Given the description of an element on the screen output the (x, y) to click on. 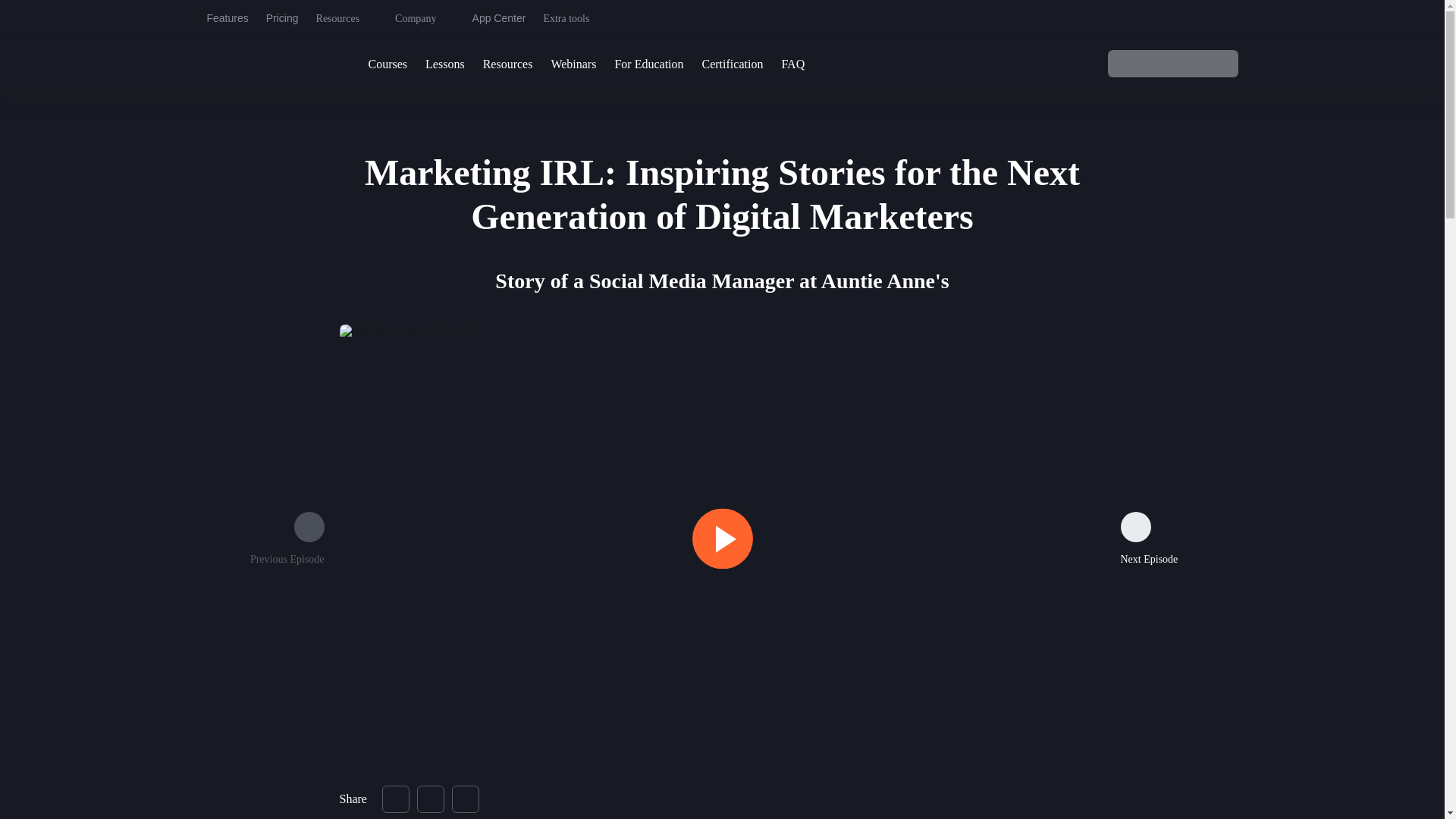
App Center (498, 18)
FAQ (792, 64)
Lessons (444, 64)
Features (226, 18)
Previous Episode (287, 539)
Certification (731, 64)
Webinars (572, 64)
Pricing (282, 18)
Next Episode (1149, 539)
